Given the description of an element on the screen output the (x, y) to click on. 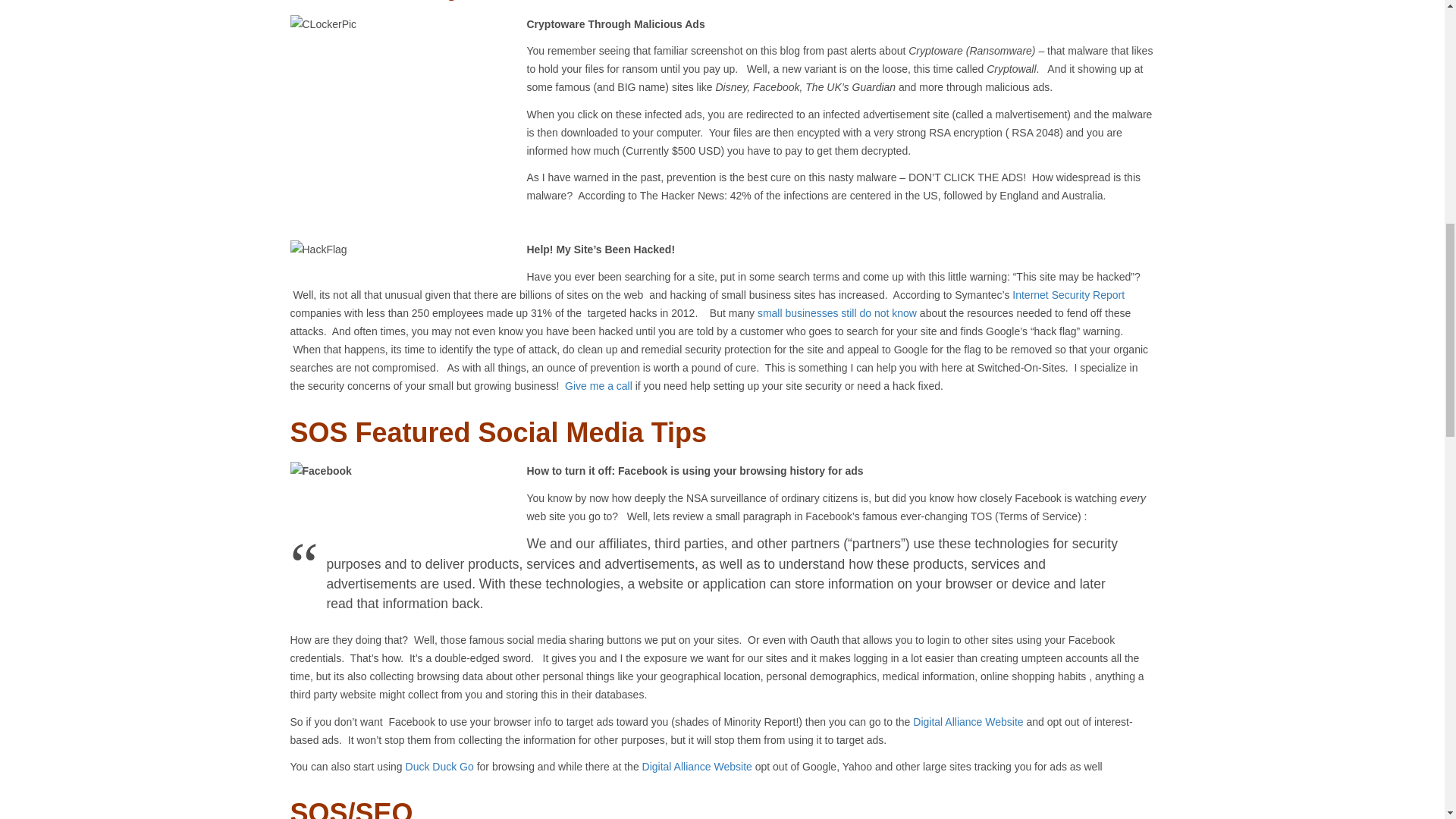
Duck Duck Go (440, 766)
Digital Alliance Website (967, 721)
small businesses still do not know (837, 313)
Internet Security Report (1067, 295)
Digital Alliance Website (697, 766)
 Give me a call (596, 386)
